Given the description of an element on the screen output the (x, y) to click on. 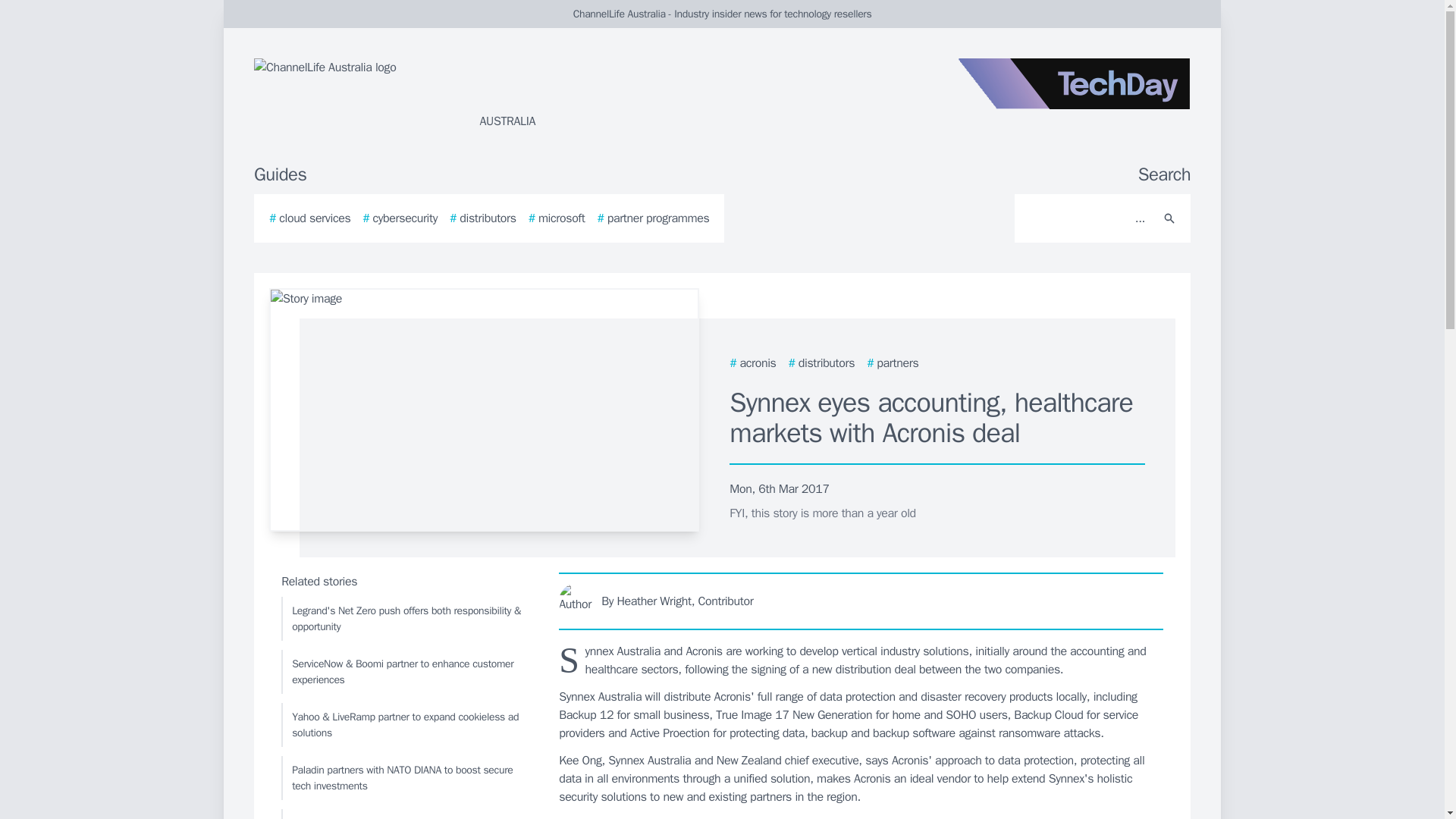
By Heather Wright, Contributor (861, 601)
AUSTRALIA (435, 94)
